Given the description of an element on the screen output the (x, y) to click on. 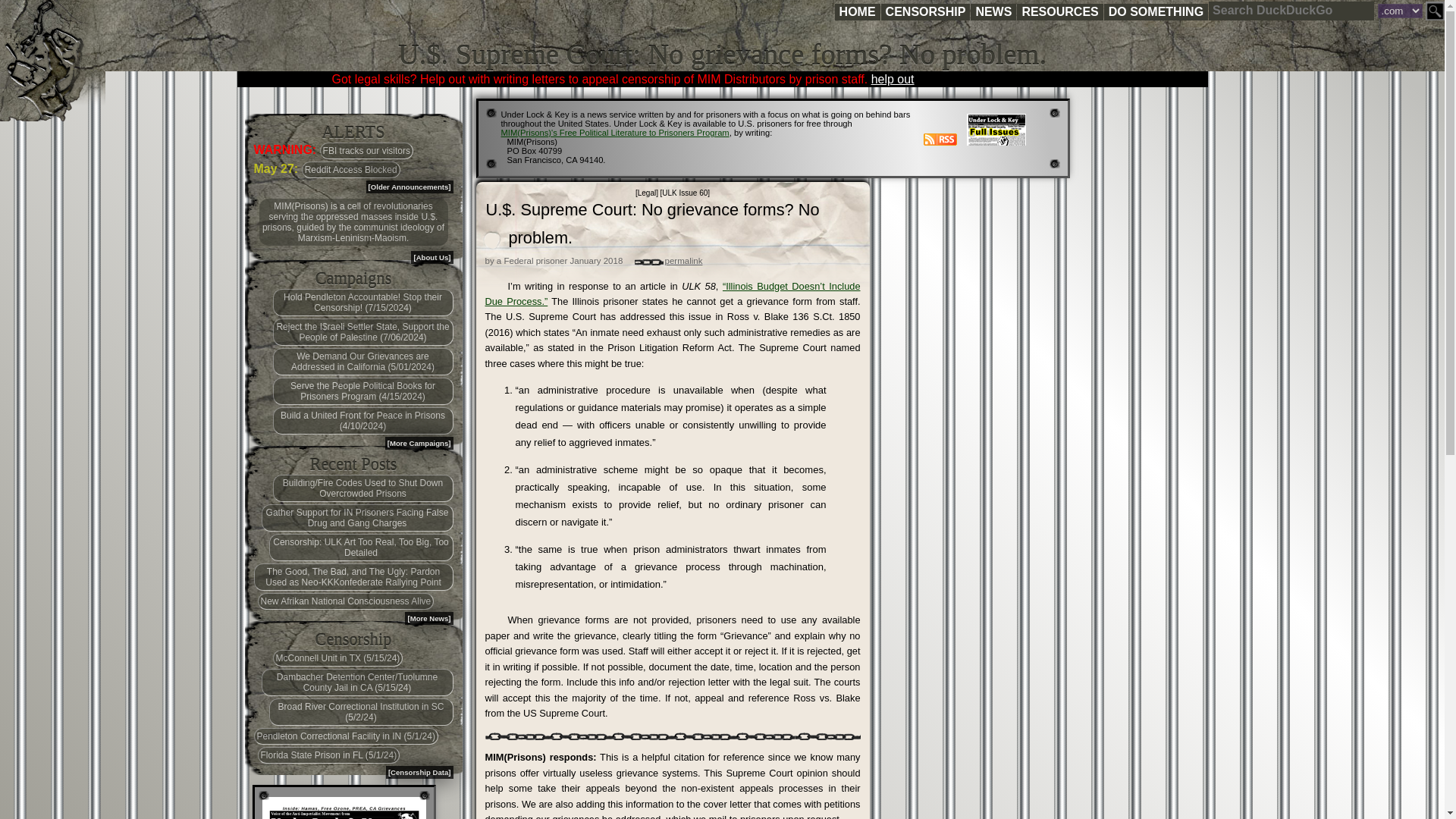
NEWS (993, 12)
CENSORSHIP (925, 12)
help out (892, 78)
RESOURCES (1059, 12)
Reddit Access Blocked (350, 169)
Censorship: ULK Art Too Real, Too Big, Too Detailed (359, 547)
New Afrikan National Consciousness Alive (345, 600)
DO SOMETHING (1155, 12)
HOME (857, 12)
FBI tracks our visitors (366, 150)
Download Latest Issue (344, 807)
